Given the description of an element on the screen output the (x, y) to click on. 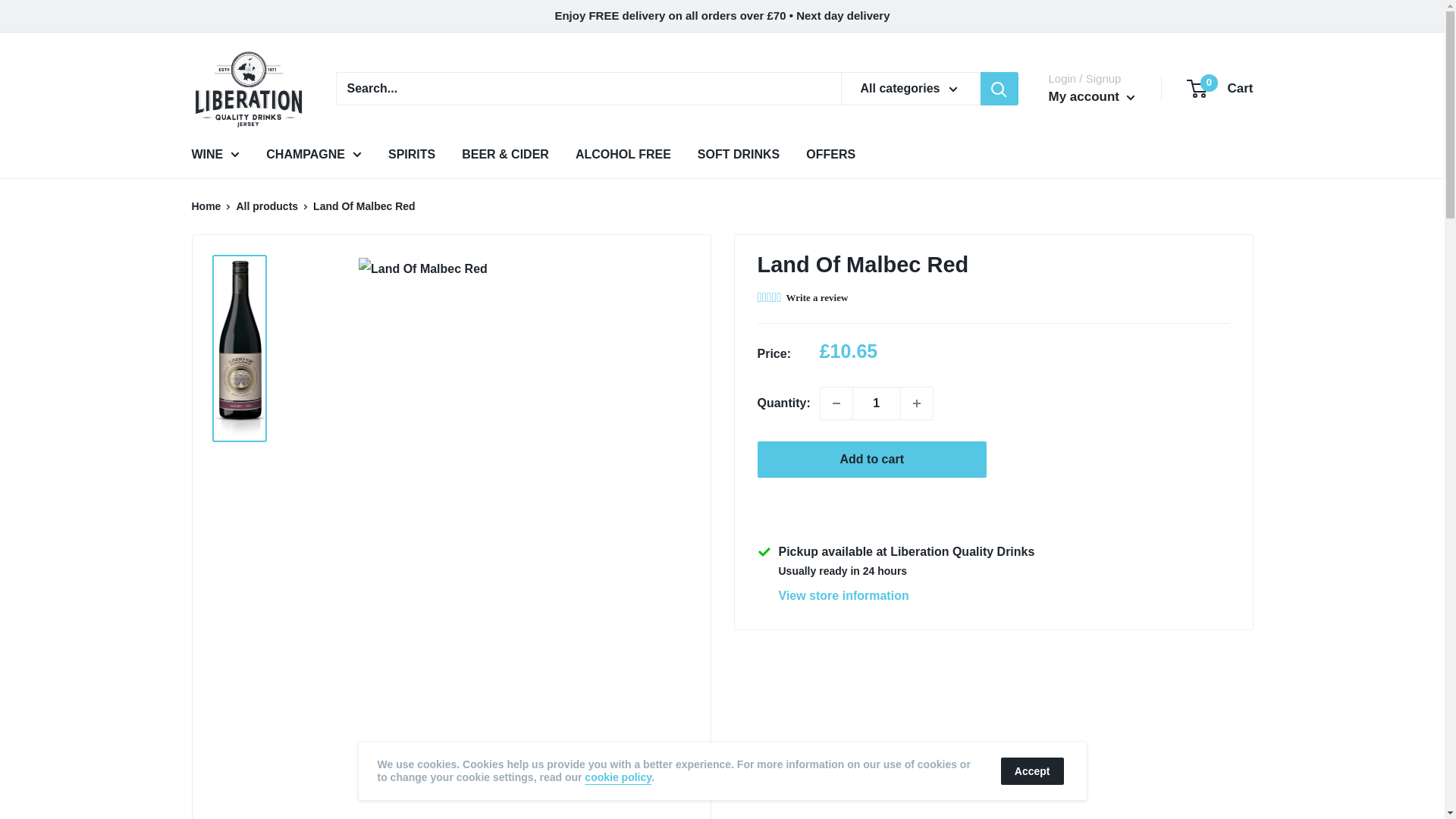
Decrease quantity by 1 (836, 402)
My account (1091, 96)
CHAMPAGNE (313, 154)
Increase quantity by 1 (917, 402)
1 (876, 402)
WINE (1220, 88)
